Given the description of an element on the screen output the (x, y) to click on. 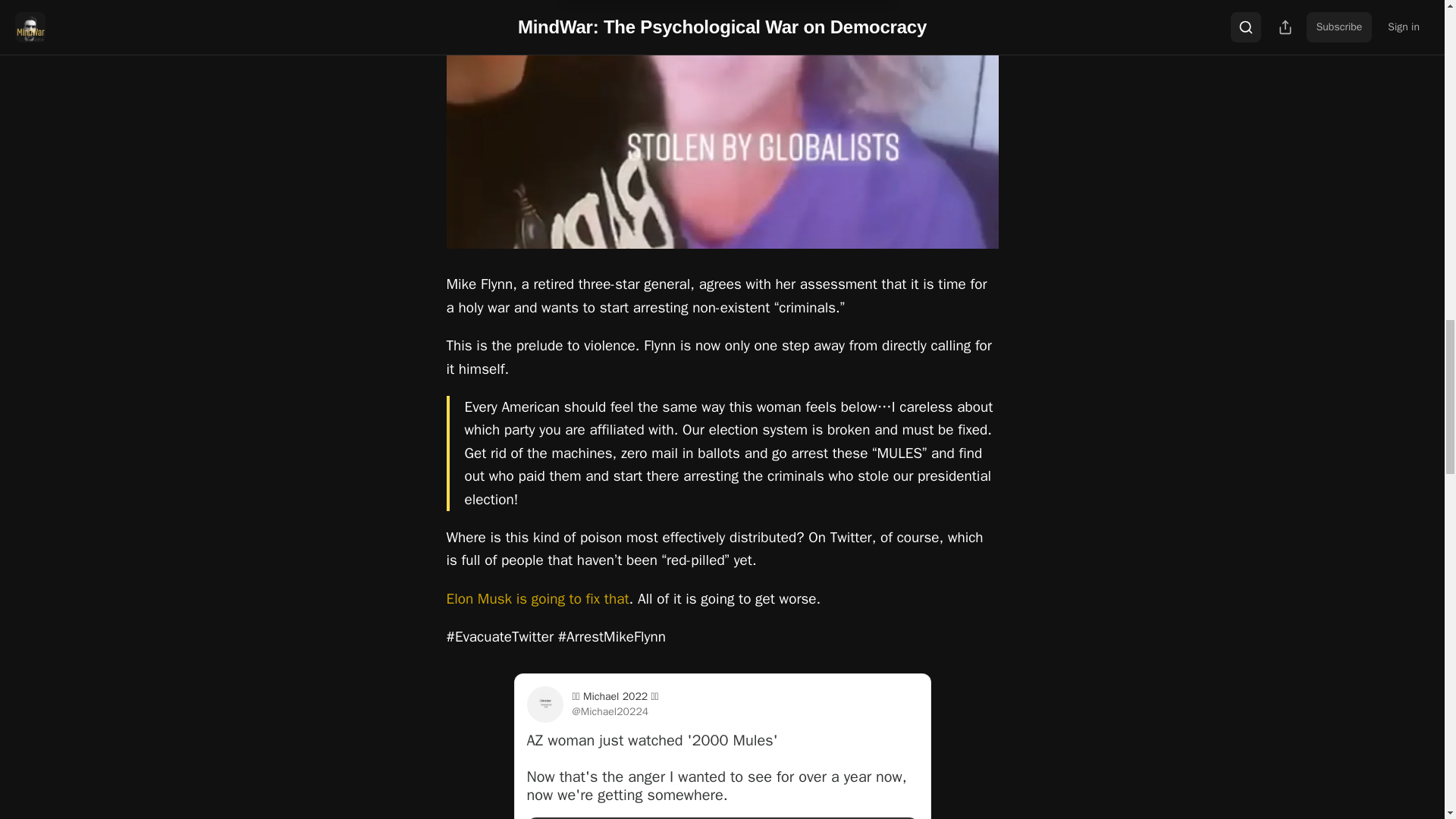
Elon Musk is going to fix that (536, 598)
